Given the description of an element on the screen output the (x, y) to click on. 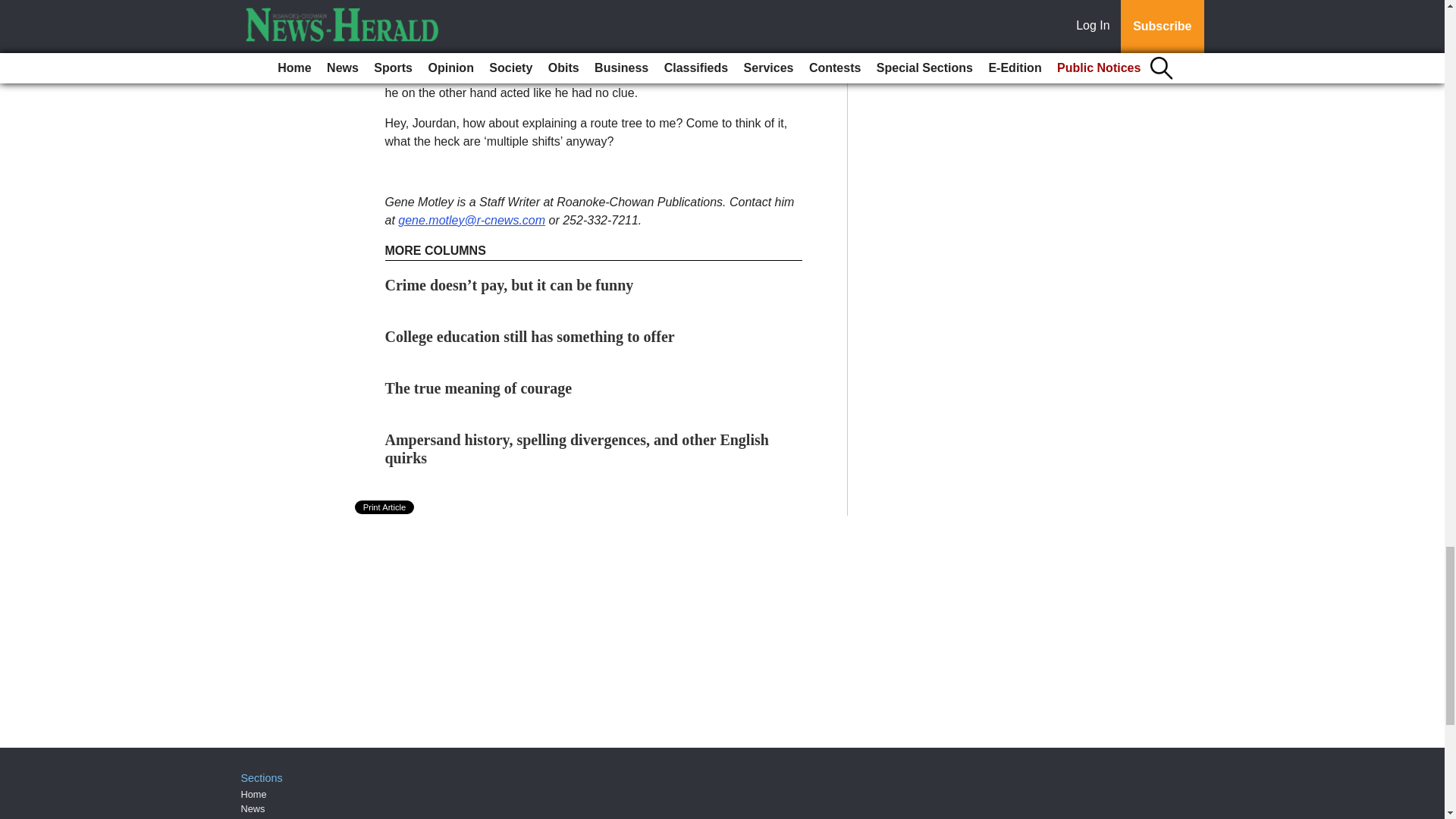
College education still has something to offer (530, 336)
The true meaning of courage (478, 388)
Print Article (384, 507)
College education still has something to offer (530, 336)
The true meaning of courage (478, 388)
